Given the description of an element on the screen output the (x, y) to click on. 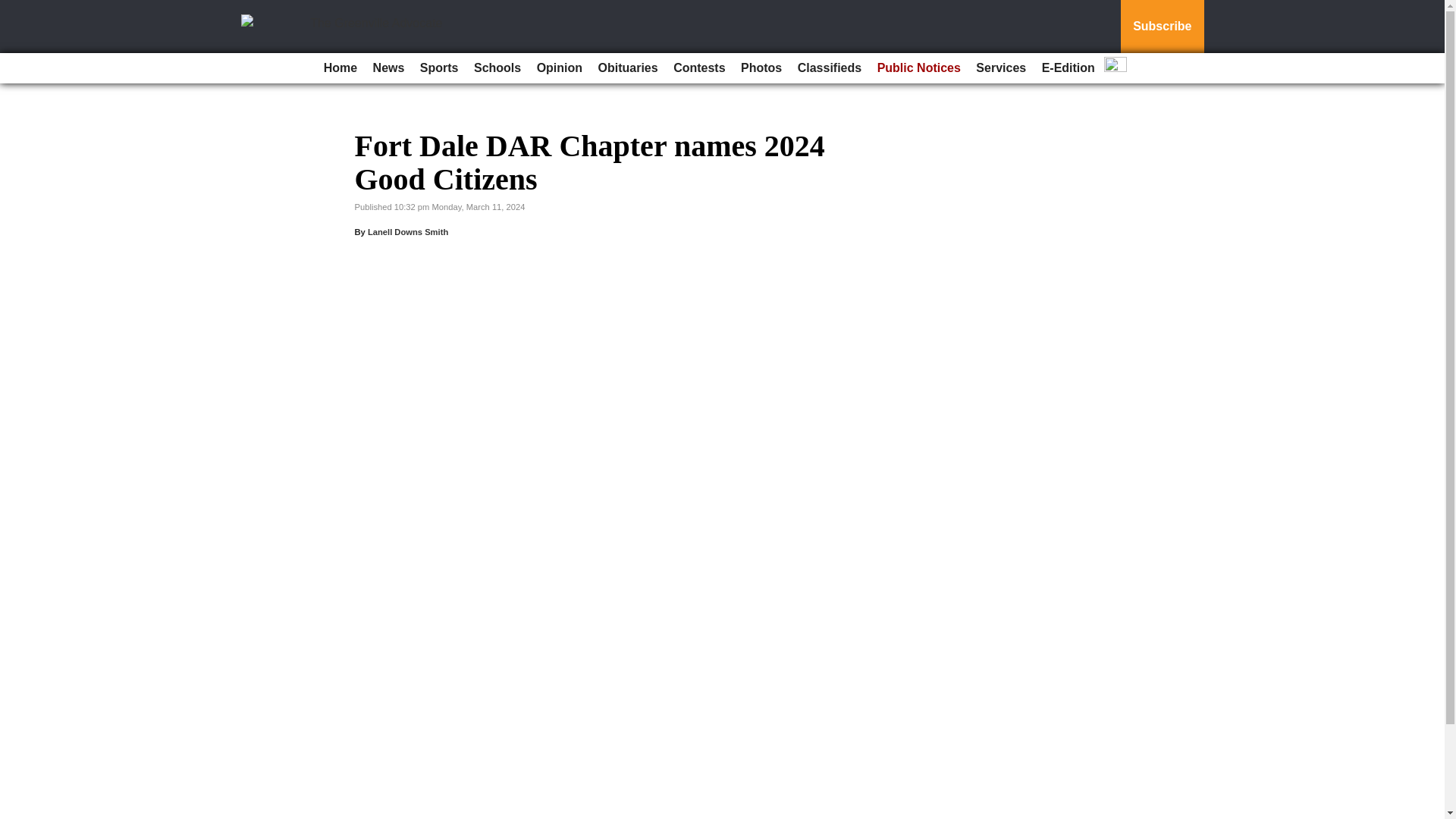
Sports (438, 68)
Home (339, 68)
Schools (497, 68)
Obituaries (627, 68)
Contests (698, 68)
Classifieds (829, 68)
Go (13, 9)
Subscribe (1162, 26)
E-Edition (1067, 68)
Public Notices (918, 68)
